Given the description of an element on the screen output the (x, y) to click on. 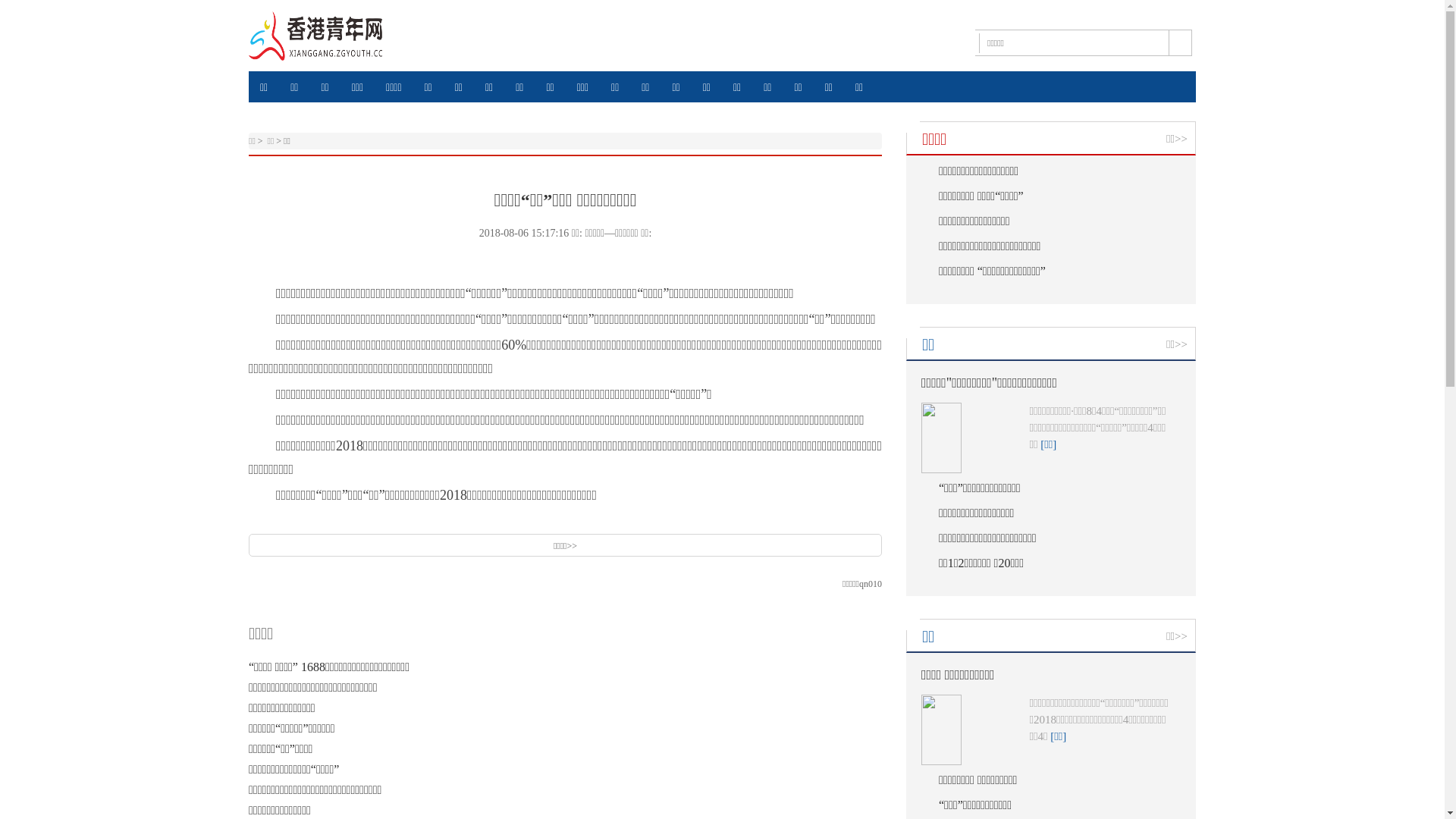
  Element type: text (777, 256)
